Given the description of an element on the screen output the (x, y) to click on. 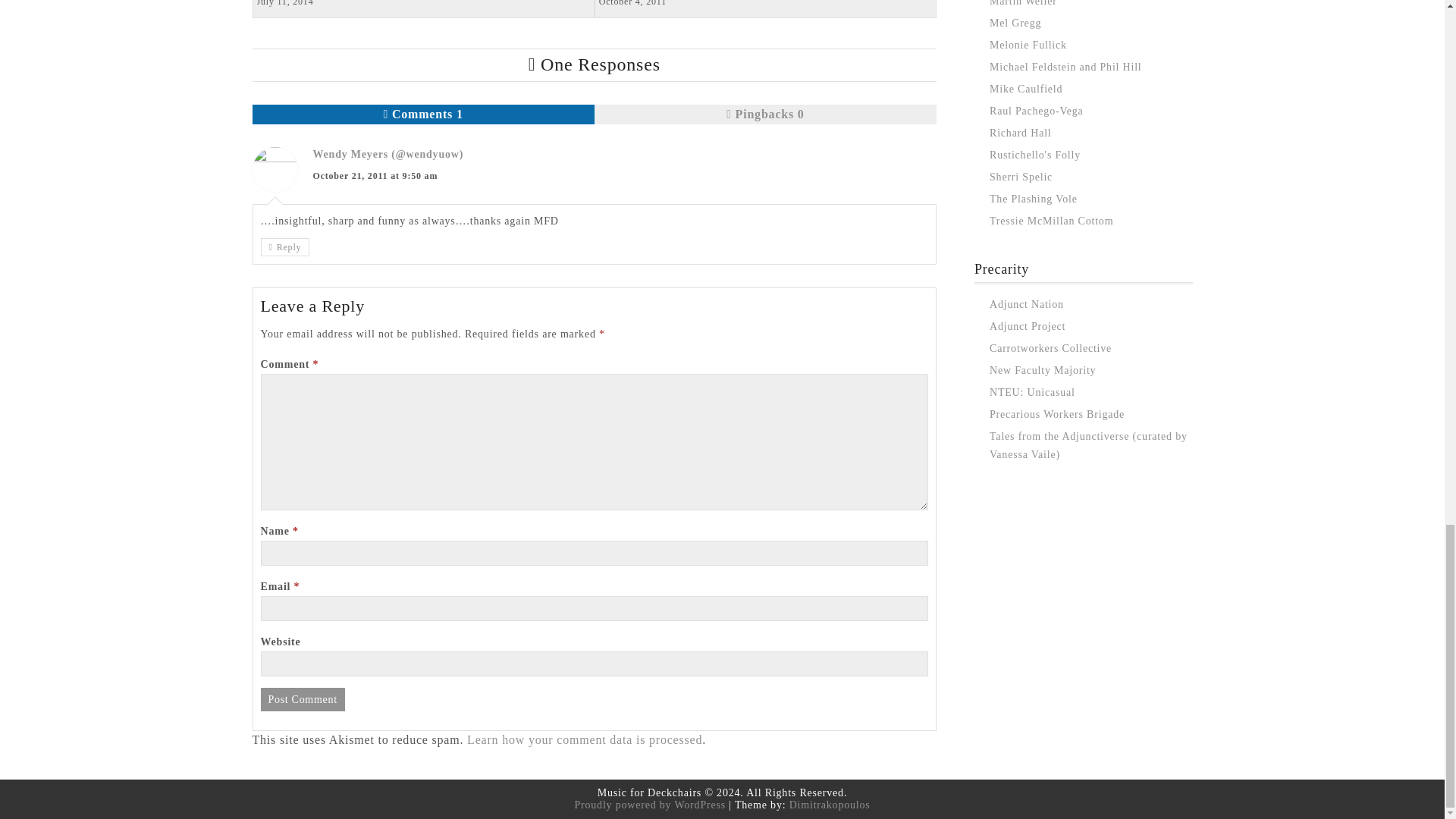
Comments 1 (422, 114)
Post Comment (302, 699)
Reply (422, 6)
Pingbacks 0 (285, 247)
Post Comment (765, 114)
Learn how your comment data is processed (302, 699)
